Given the description of an element on the screen output the (x, y) to click on. 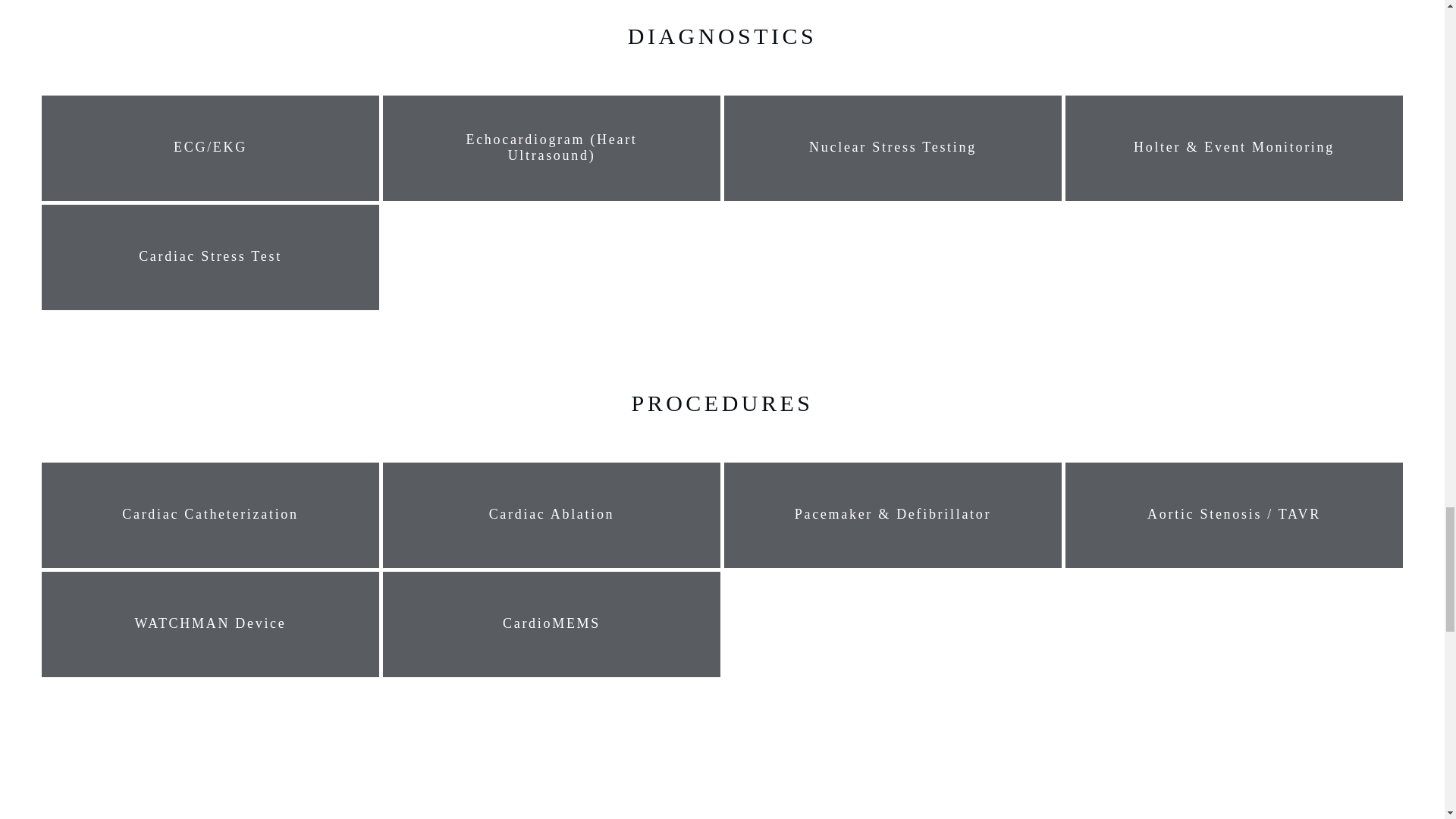
Nuclear Stress Testing (892, 147)
